Given the description of an element on the screen output the (x, y) to click on. 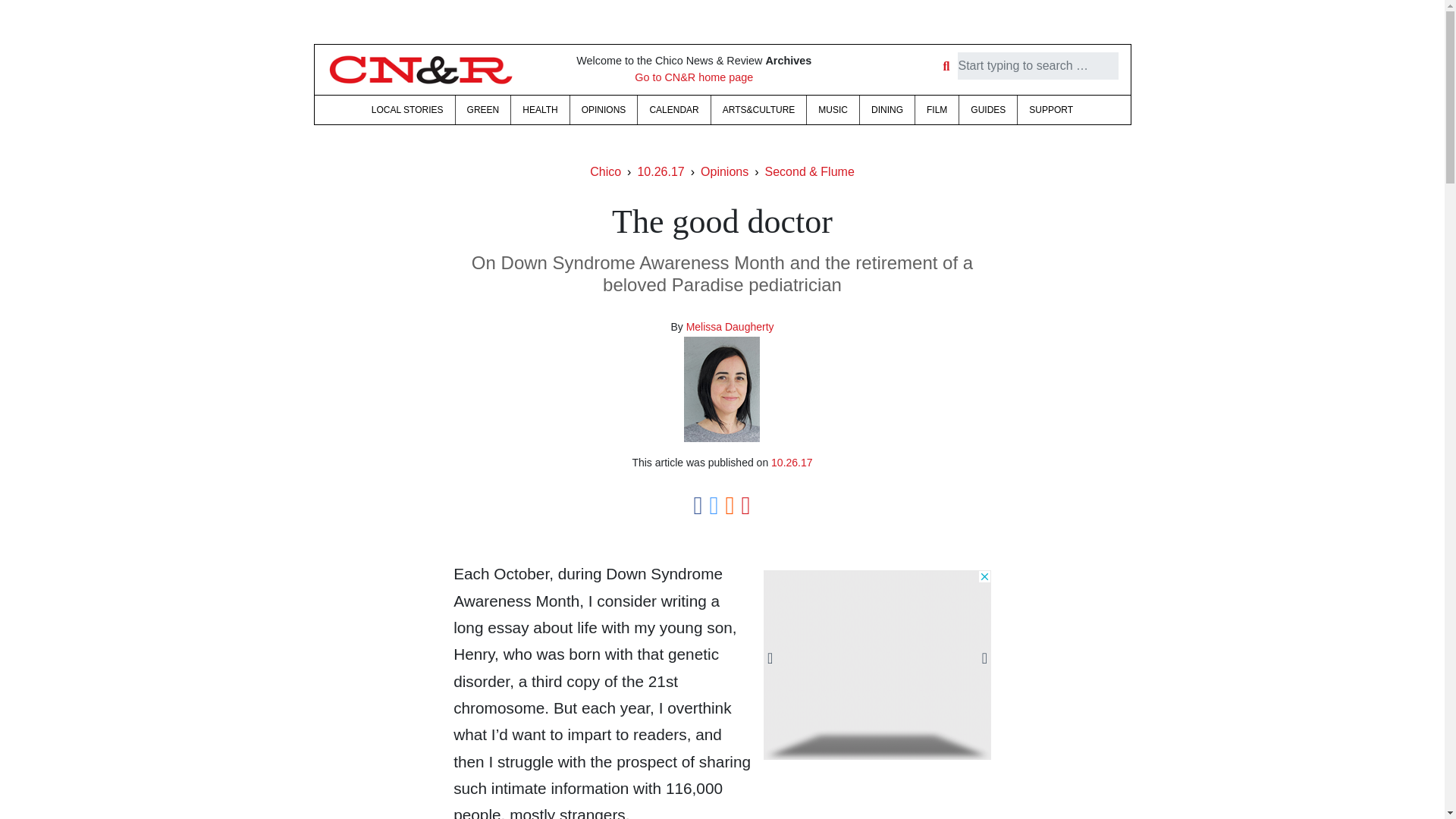
10.26.17 (791, 462)
OPINIONS (603, 109)
Opinions (724, 171)
FILM (936, 109)
LOCAL STORIES (406, 109)
10.26.17 (660, 171)
Chico (605, 171)
CALENDAR (673, 109)
3rd party ad content (876, 665)
SUPPORT (1050, 109)
MUSIC (832, 109)
DINING (887, 109)
Melissa Daugherty (729, 326)
HEALTH (540, 109)
GUIDES (987, 109)
